Given the description of an element on the screen output the (x, y) to click on. 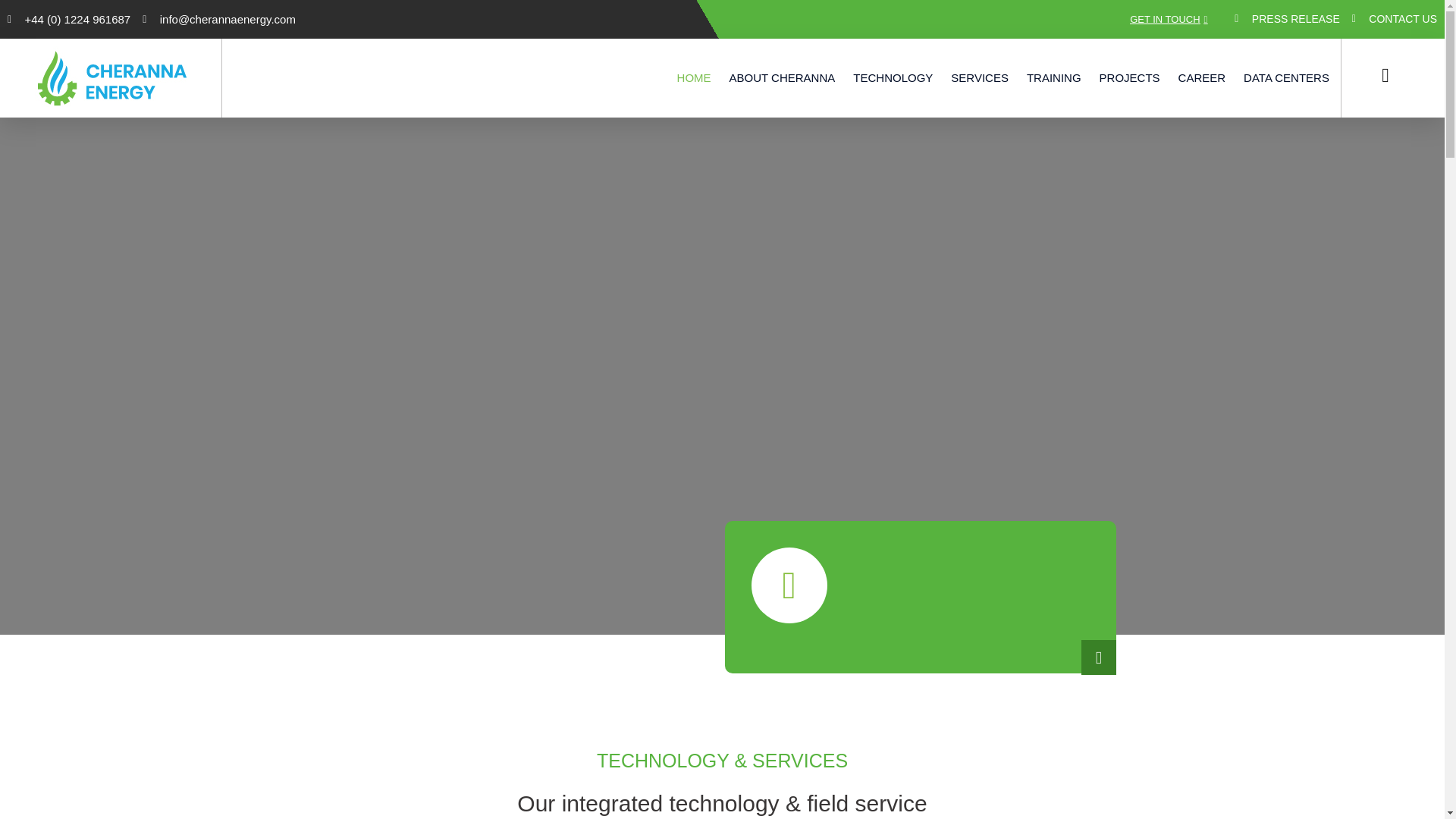
GET IN TOUCH (1169, 19)
ABOUT CHERANNA (782, 77)
CAREER (1201, 77)
DATA CENTERS (1286, 77)
HOME (694, 77)
PROJECTS (1129, 77)
TRAINING (1053, 77)
TECHNOLOGY (893, 77)
CONTACT US (1394, 18)
SERVICES (979, 77)
